Given the description of an element on the screen output the (x, y) to click on. 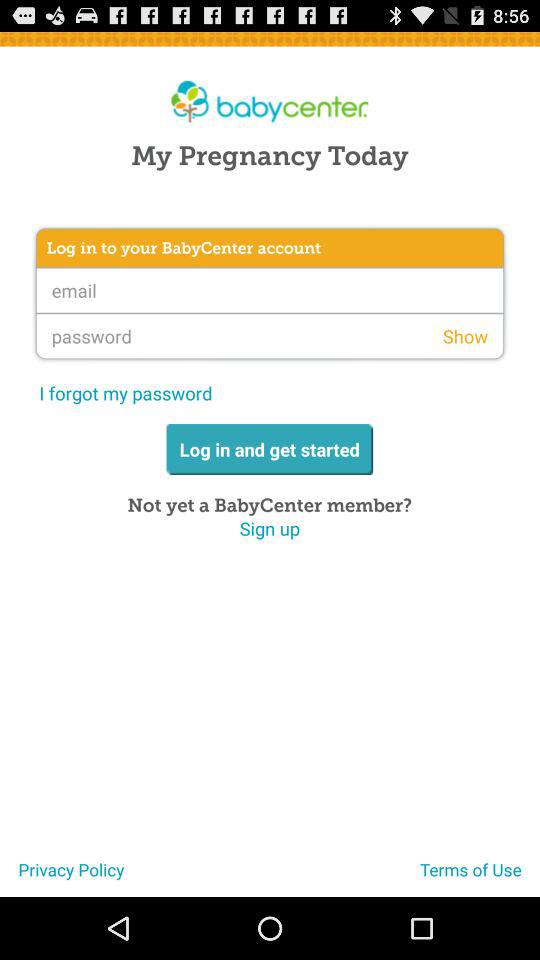
choose the item next to privacy policy app (480, 877)
